Given the description of an element on the screen output the (x, y) to click on. 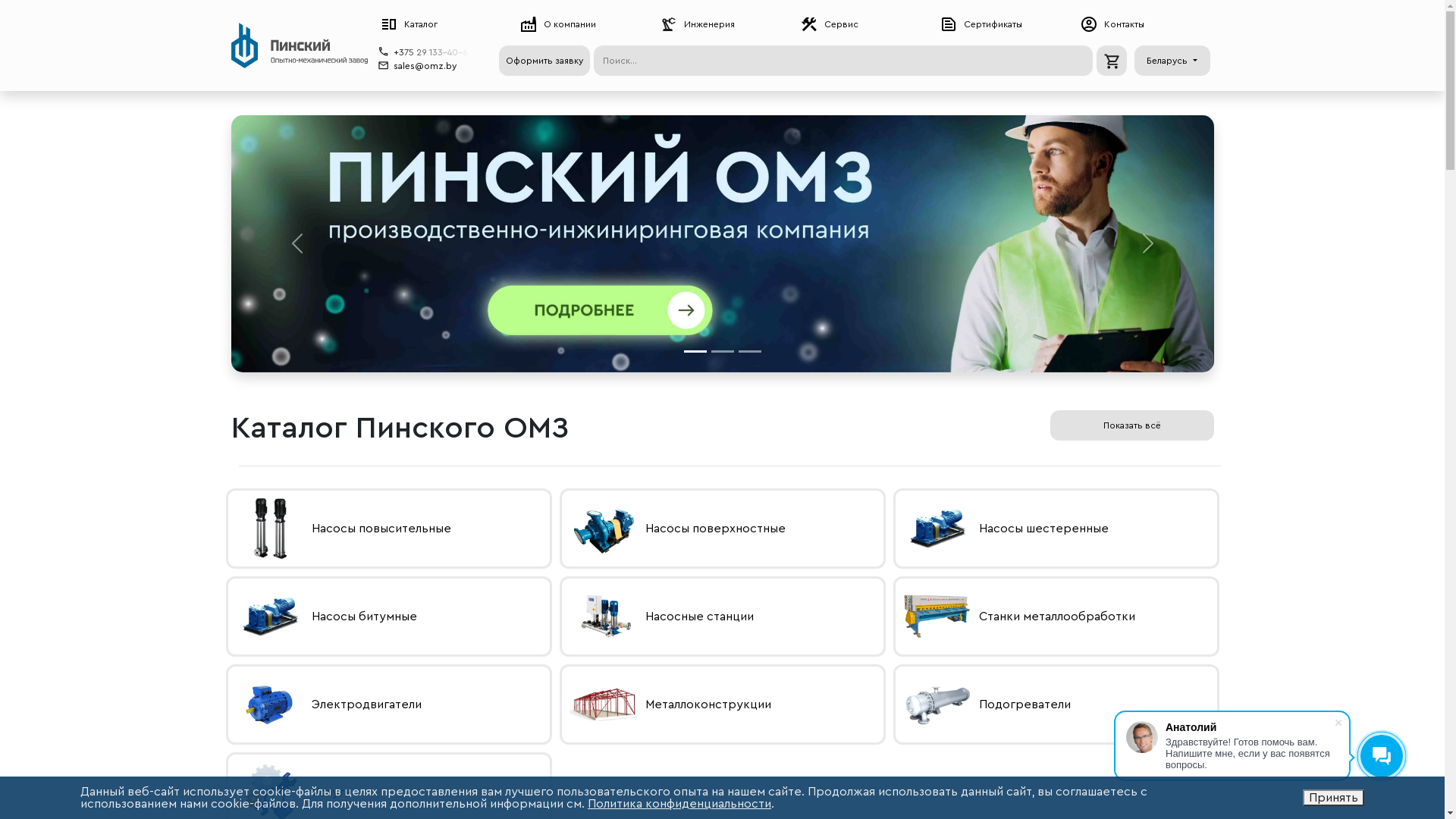
Next Element type: text (1147, 243)
+375 29 133-40-6 Element type: text (432, 52)
Previous Element type: text (296, 243)
sales@omz.by Element type: text (423, 65)
